Given the description of an element on the screen output the (x, y) to click on. 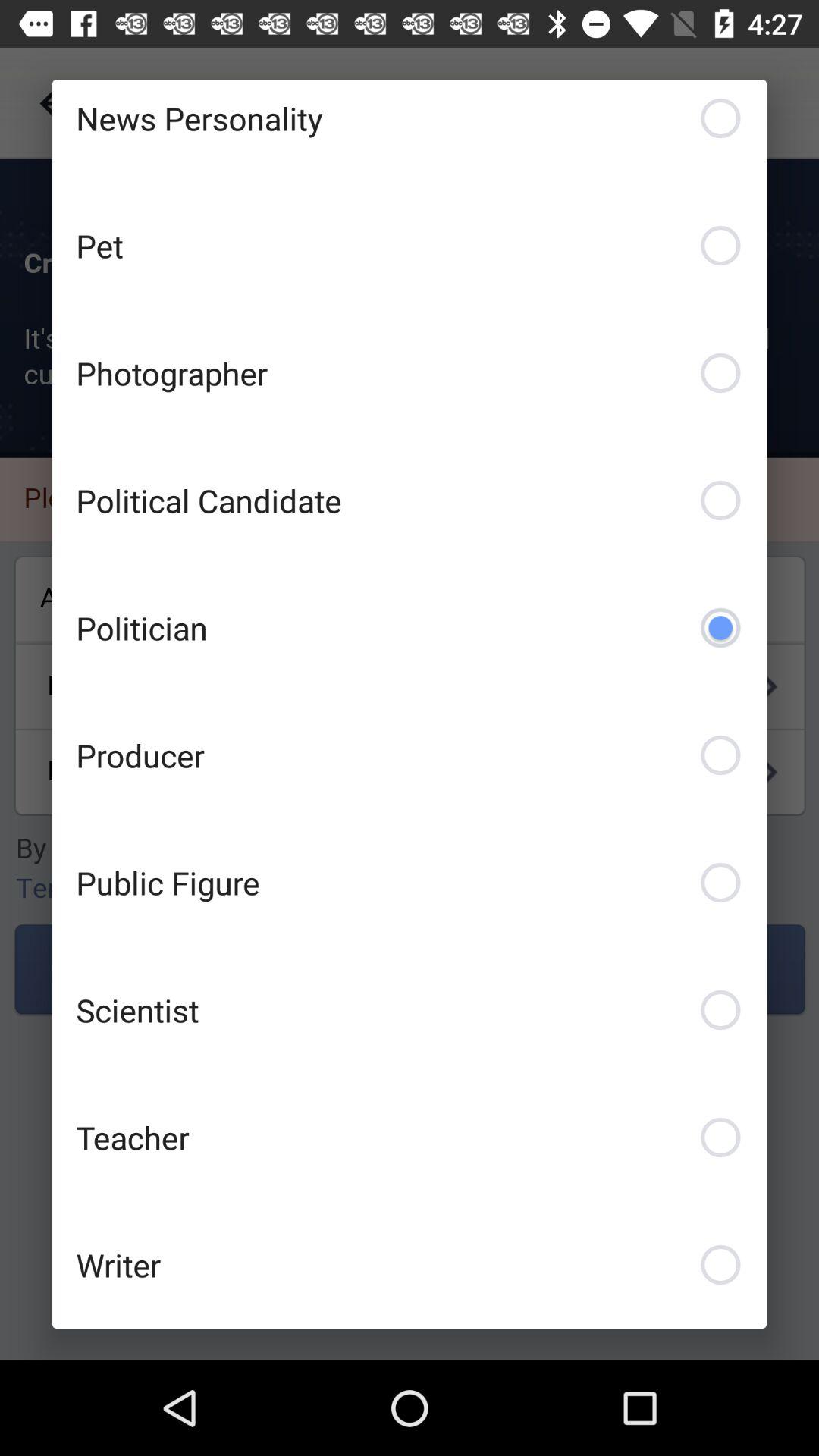
click the item above teacher (409, 1009)
